Given the description of an element on the screen output the (x, y) to click on. 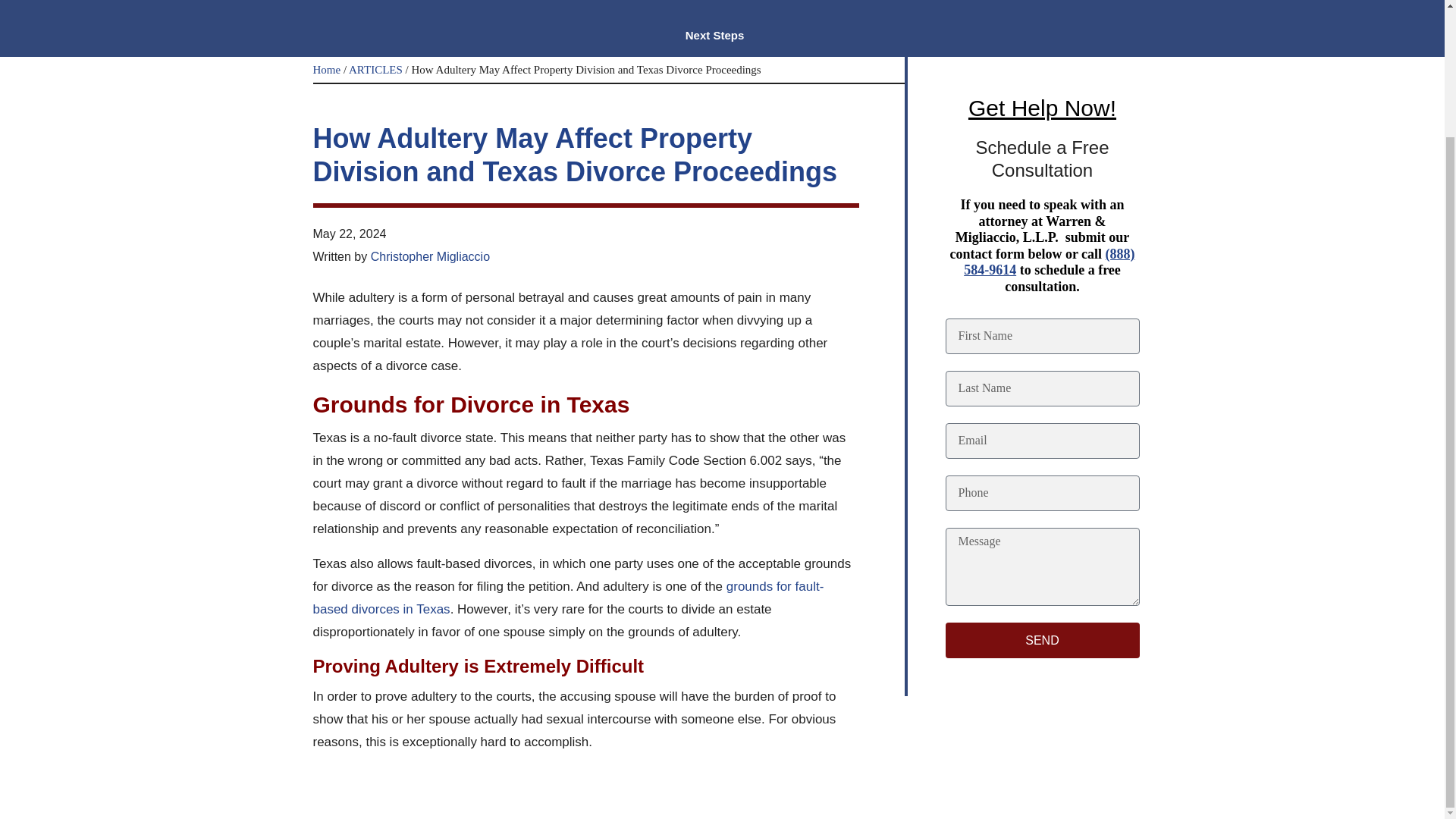
Bankruptcy (441, 6)
Debt Lawsuits (547, 6)
Divorce (644, 6)
Our Team (346, 6)
